Given the description of an element on the screen output the (x, y) to click on. 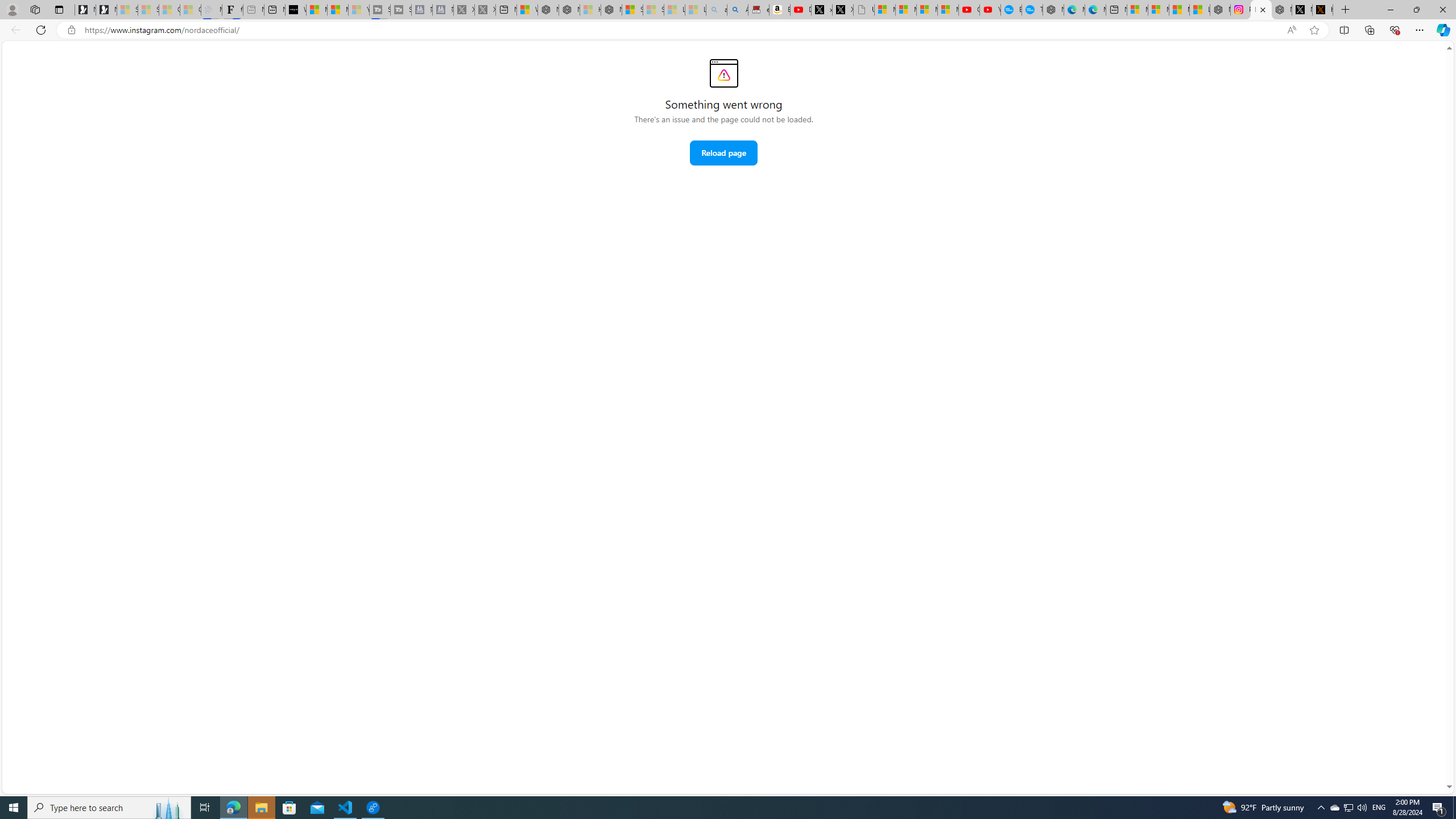
Gloom - YouTube (968, 9)
